Given the description of an element on the screen output the (x, y) to click on. 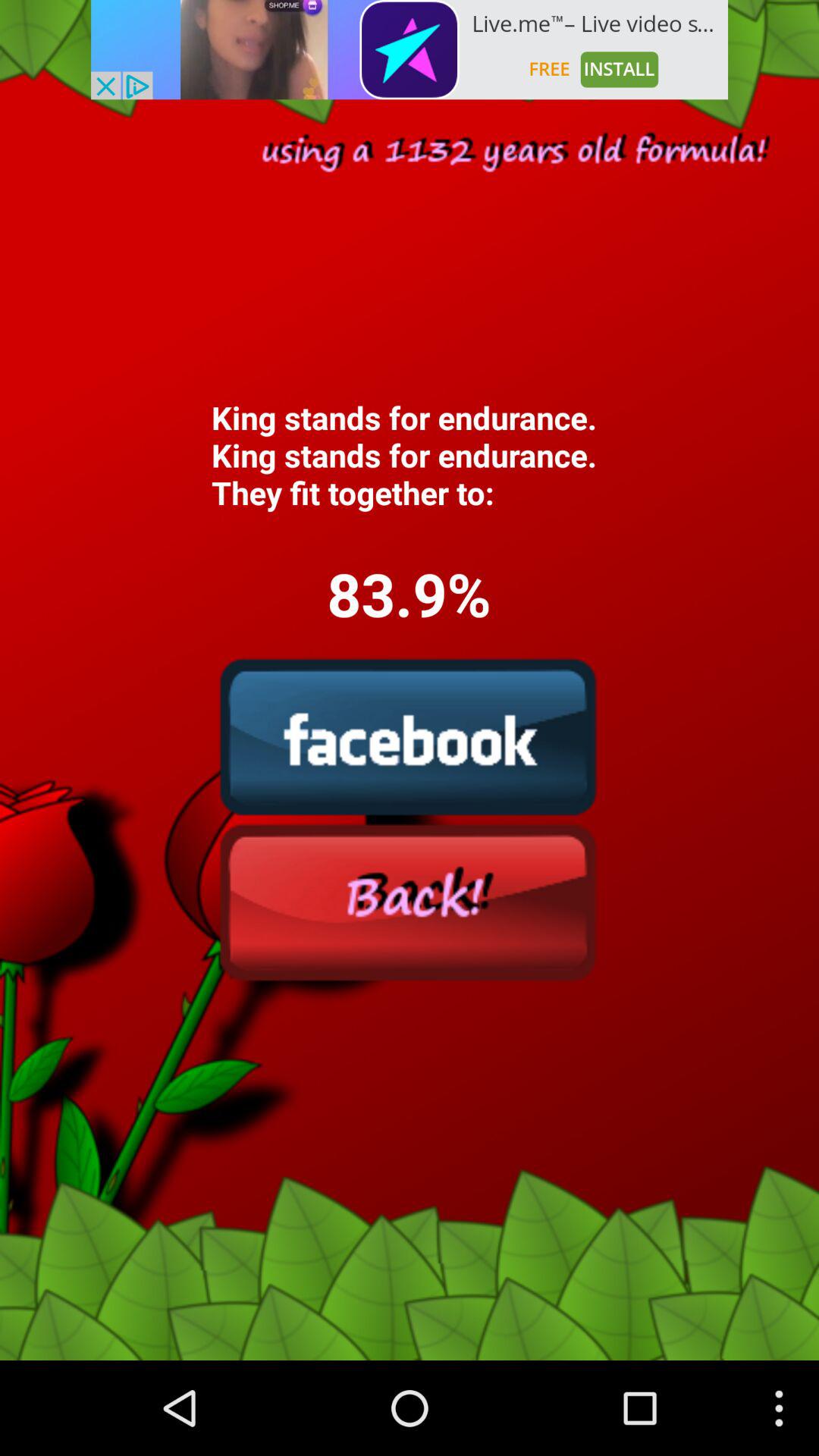
install the app (409, 49)
